Given the description of an element on the screen output the (x, y) to click on. 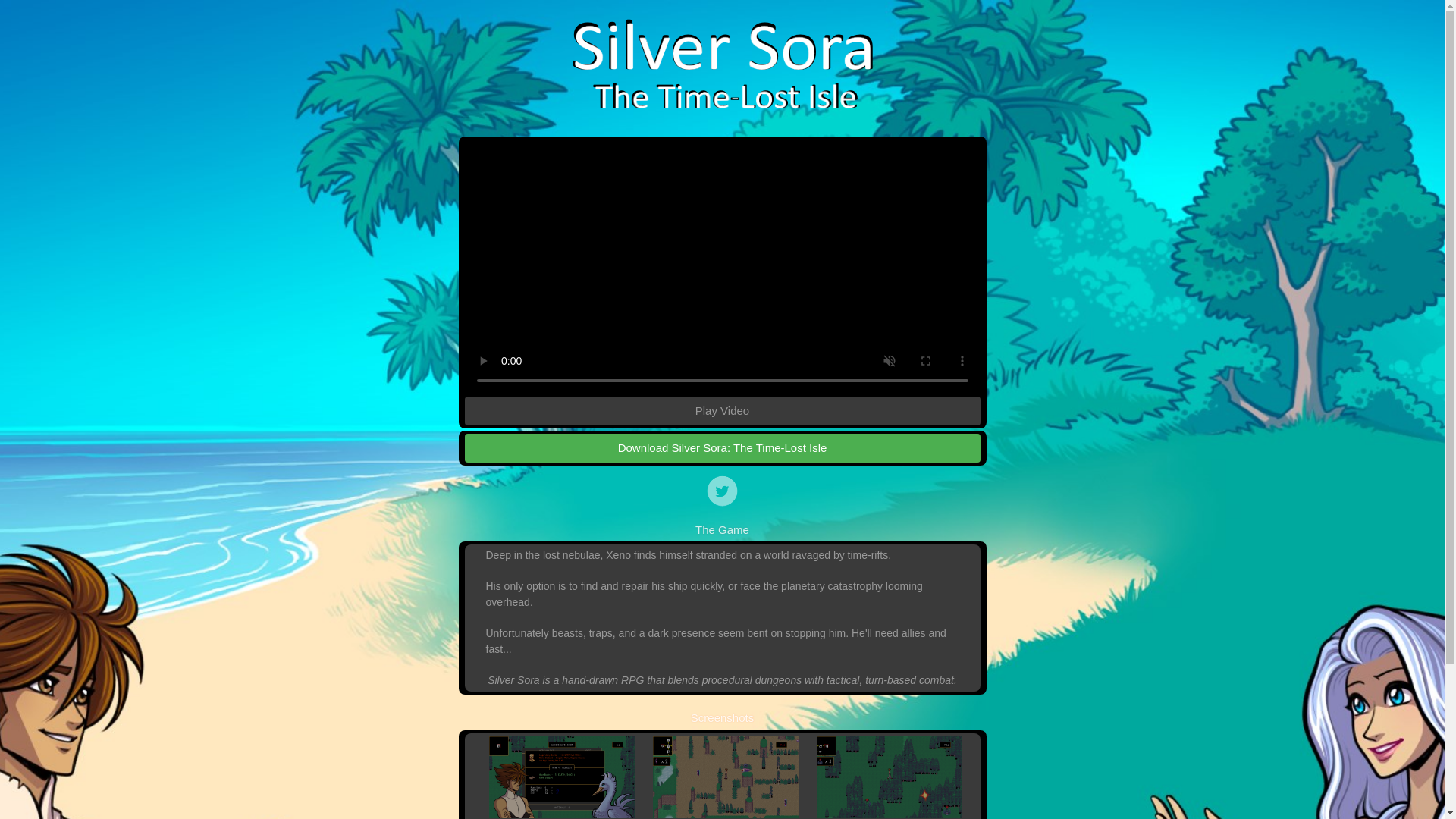
Download Silver Sora: The Time-Lost Isle (721, 448)
Play Video (721, 410)
